Given the description of an element on the screen output the (x, y) to click on. 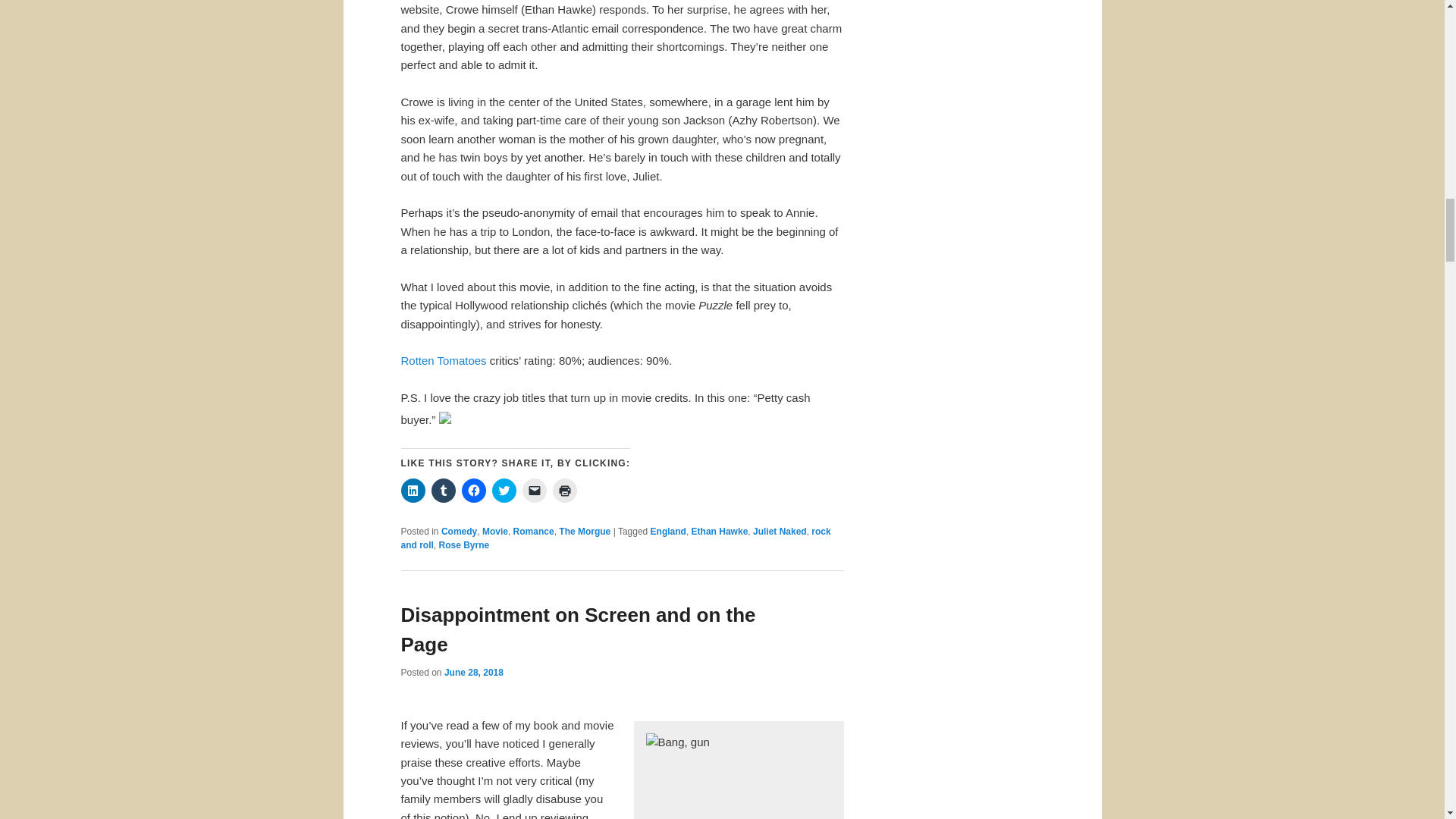
Click to share on Tumblr (442, 490)
Click to share on Twitter (503, 490)
Click to share on Facebook (472, 490)
Click to share on LinkedIn (412, 490)
Click to email a link to a friend (533, 490)
Rotten Tomatoes (443, 359)
